Given the description of an element on the screen output the (x, y) to click on. 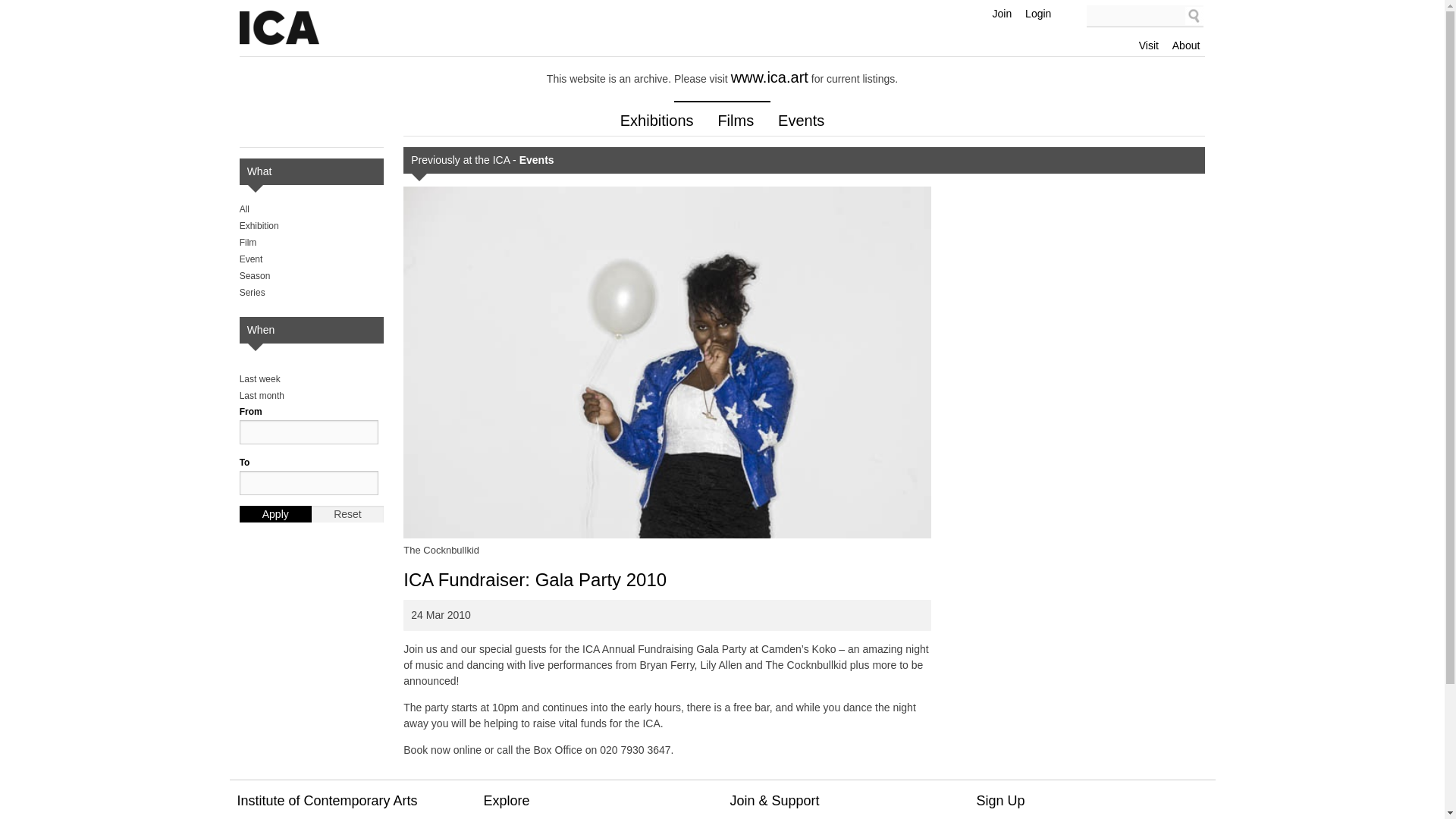
Film (248, 242)
Search (1194, 15)
Exhibition (259, 225)
Last month (261, 395)
Institute of Contemporary Arts (279, 27)
Search (1194, 15)
Join (1002, 13)
About (1186, 45)
Institute of Contemporary Arts (279, 27)
Apply (275, 514)
Apply (275, 514)
Season (255, 276)
Login (1038, 13)
www.ica.art (769, 77)
Visit (245, 818)
